Given the description of an element on the screen output the (x, y) to click on. 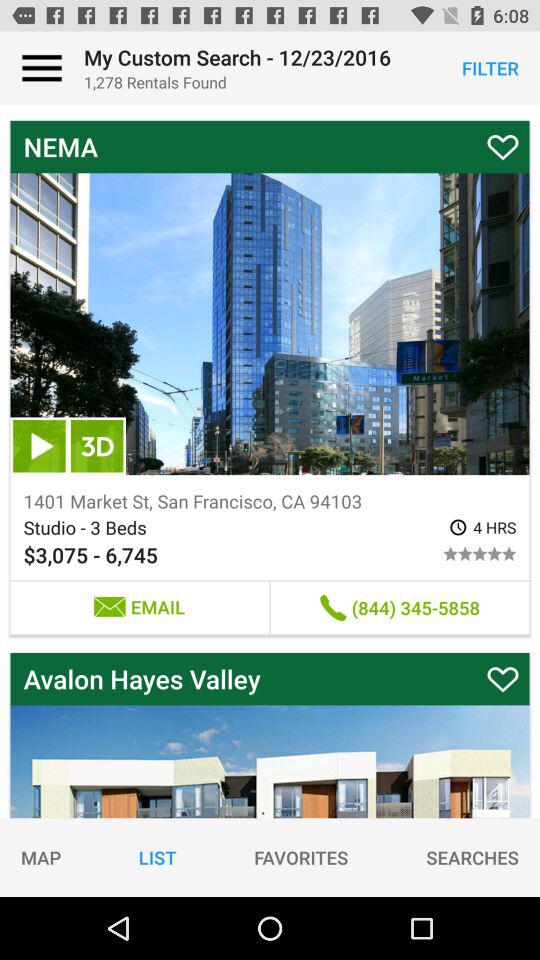
choose list icon (157, 857)
